Given the description of an element on the screen output the (x, y) to click on. 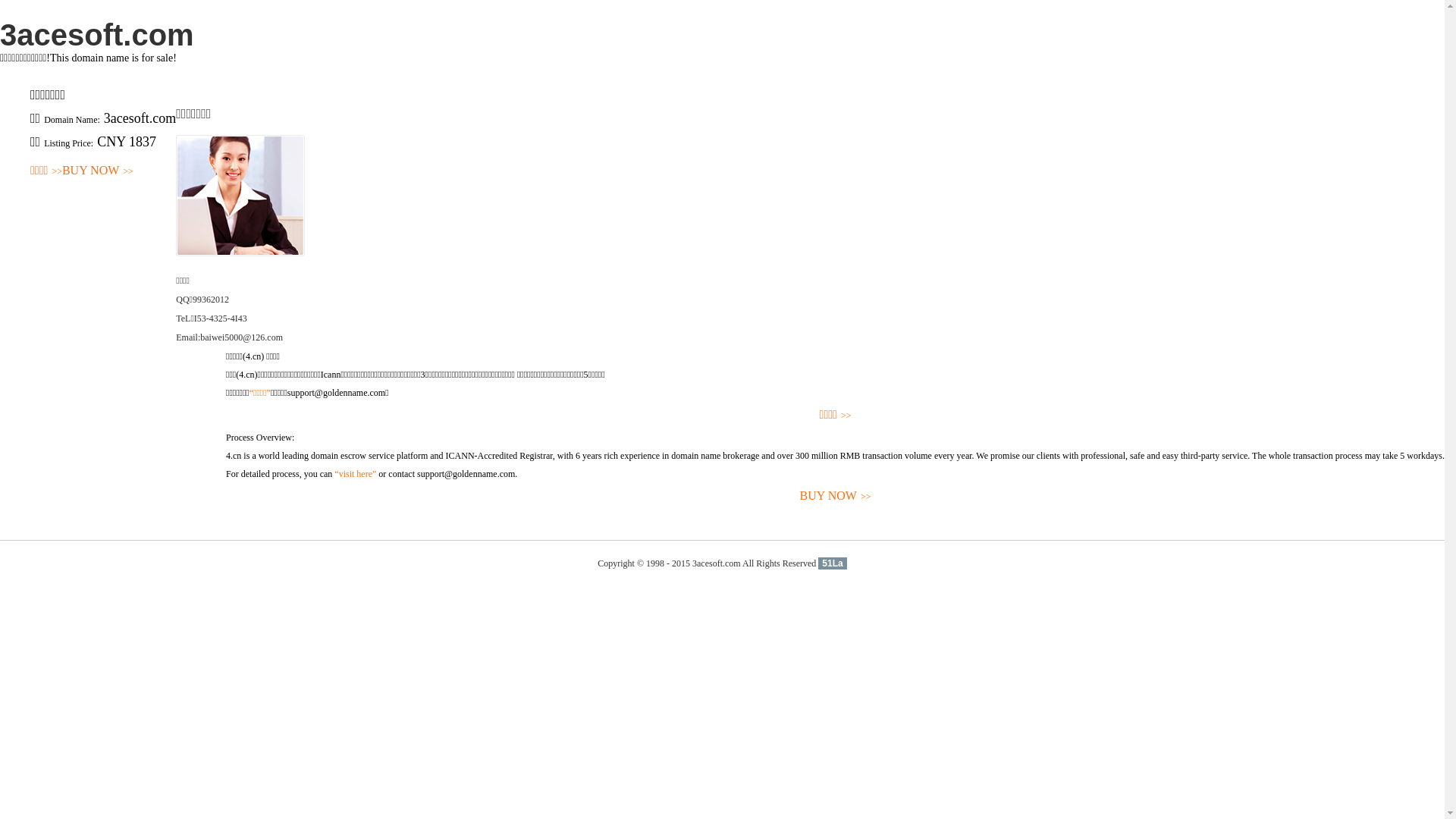
BUY NOW>> Element type: text (97, 170)
BUY NOW>> Element type: text (834, 496)
51La Element type: text (832, 563)
